Given the description of an element on the screen output the (x, y) to click on. 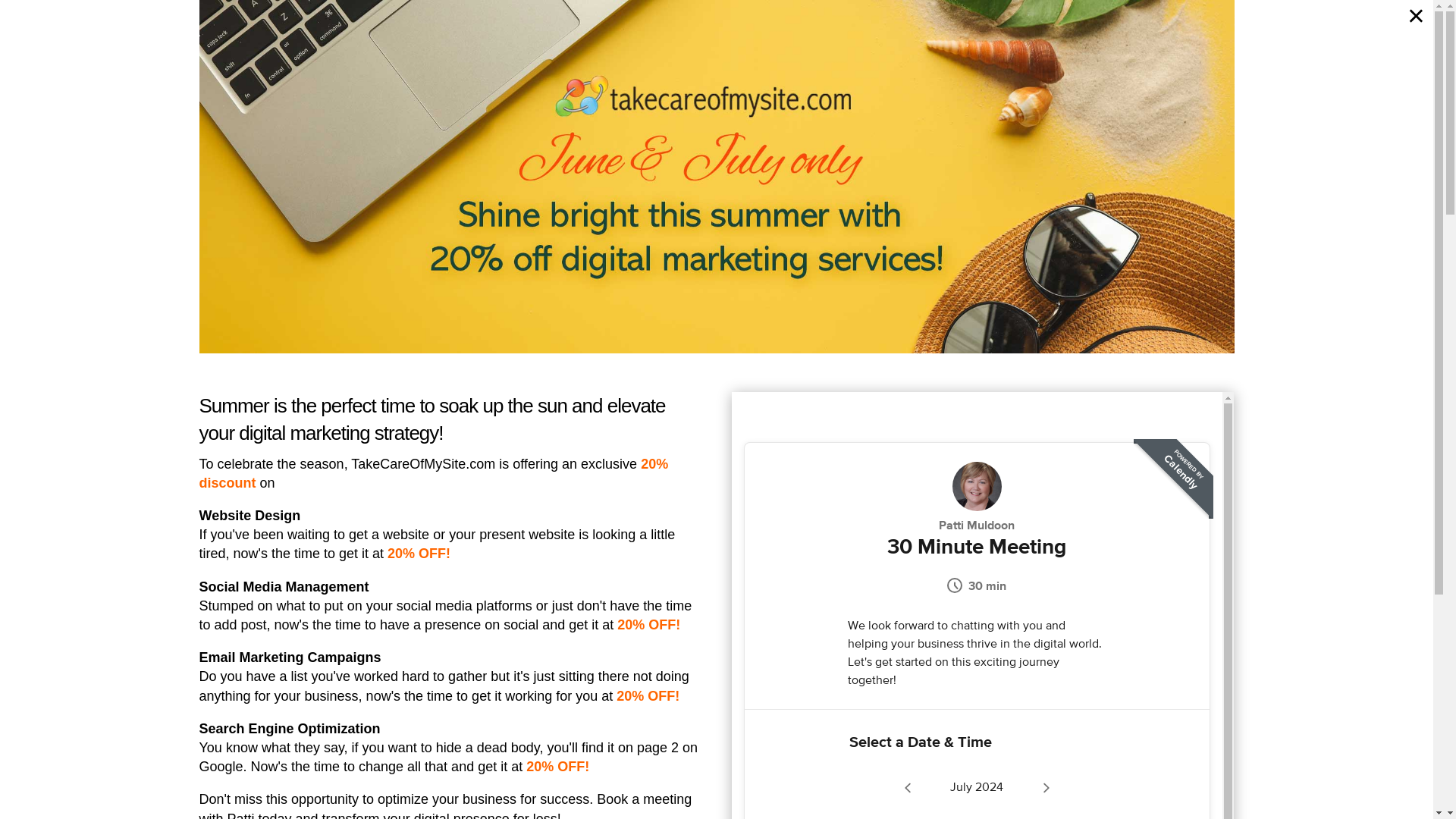
About (1344, 37)
Contact (1400, 37)
Find out how we can help (1041, 744)
website-mistakes (479, 733)
Social Media (1006, 37)
Web Design (881, 37)
Email Marketing (1099, 37)
Your website needs to be well-designed (611, 215)
Web Design Portfolio (1213, 37)
